Given the description of an element on the screen output the (x, y) to click on. 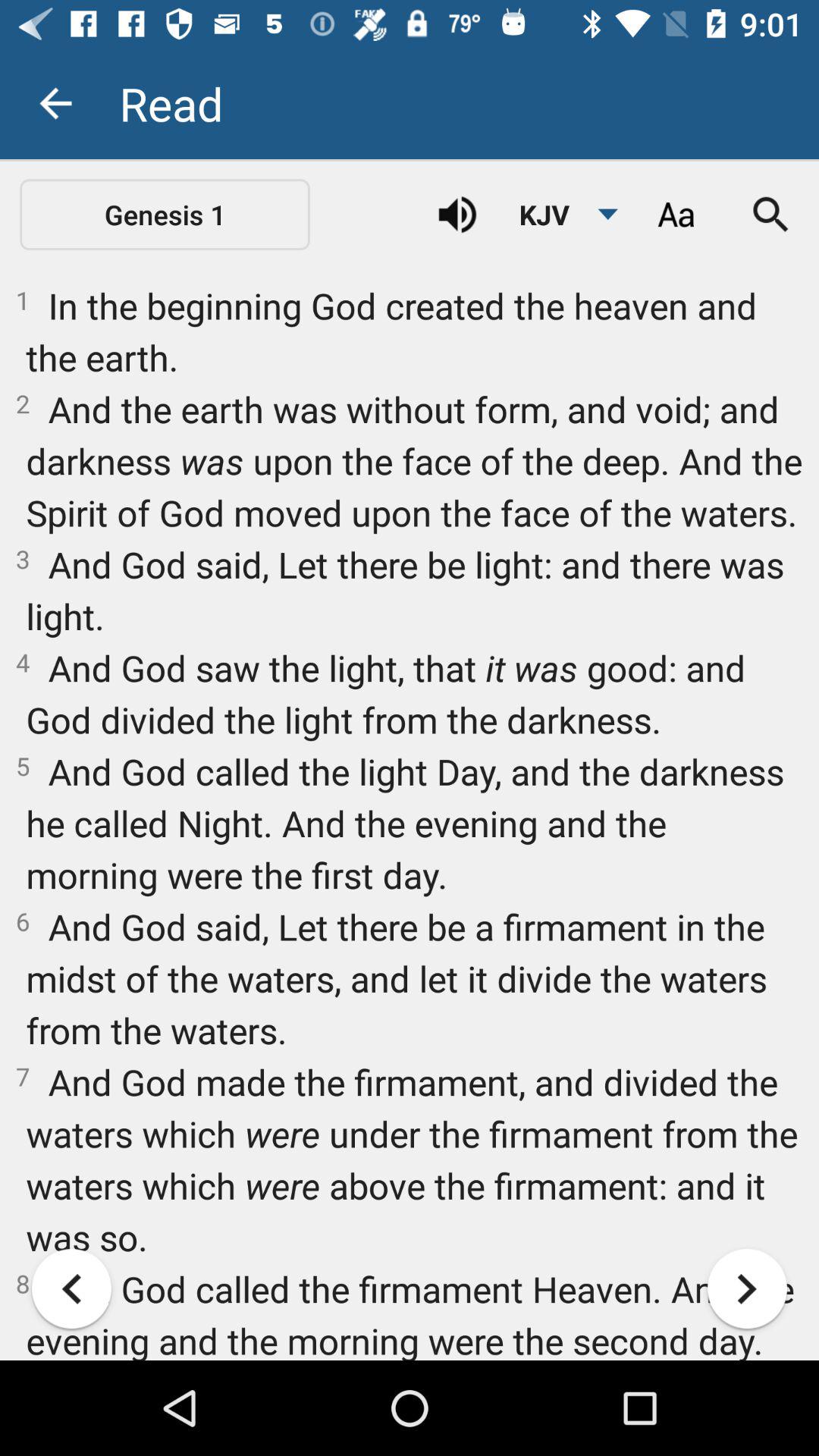
go to previous (71, 1288)
